Given the description of an element on the screen output the (x, y) to click on. 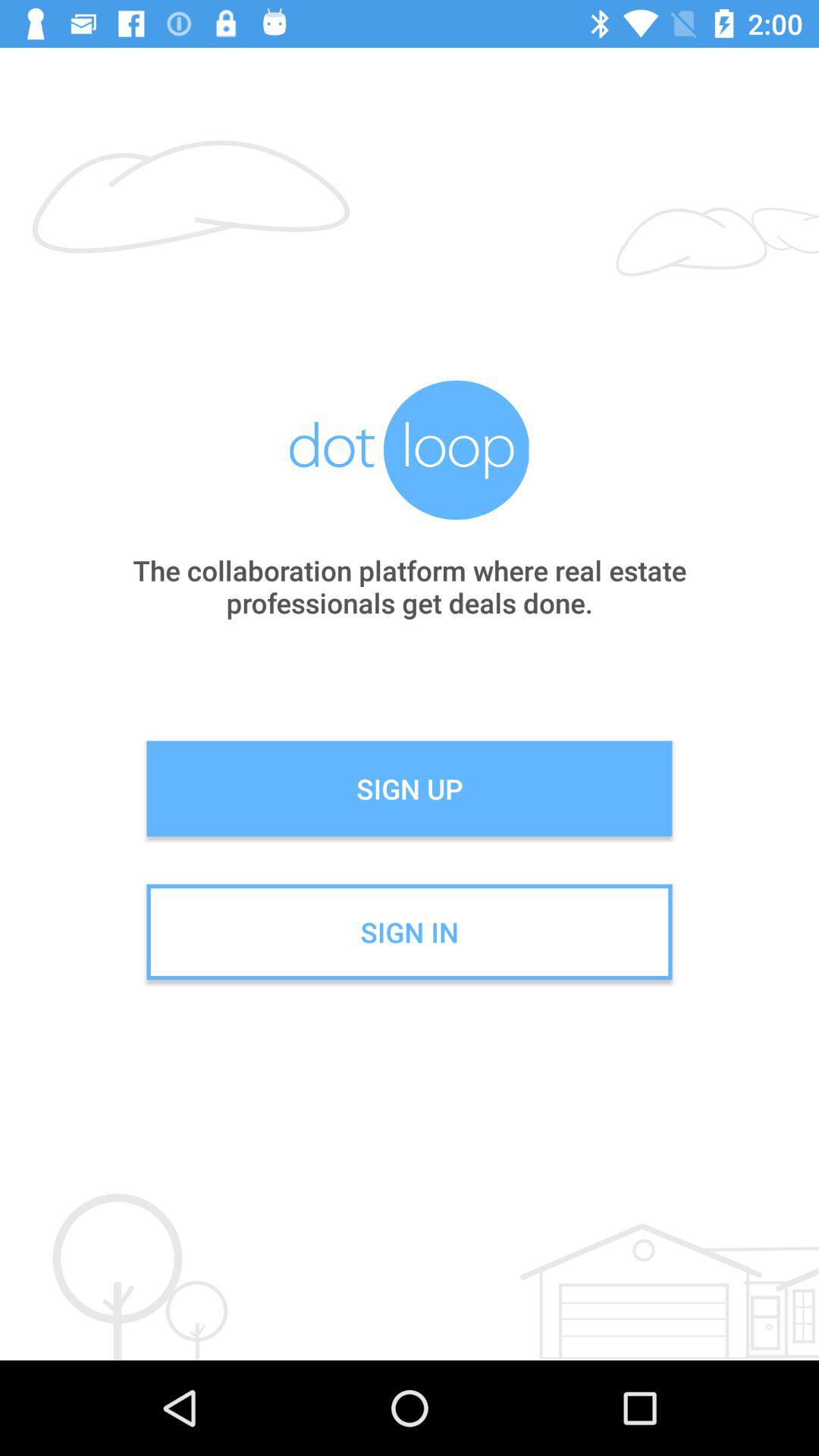
launch sign up item (409, 788)
